Given the description of an element on the screen output the (x, y) to click on. 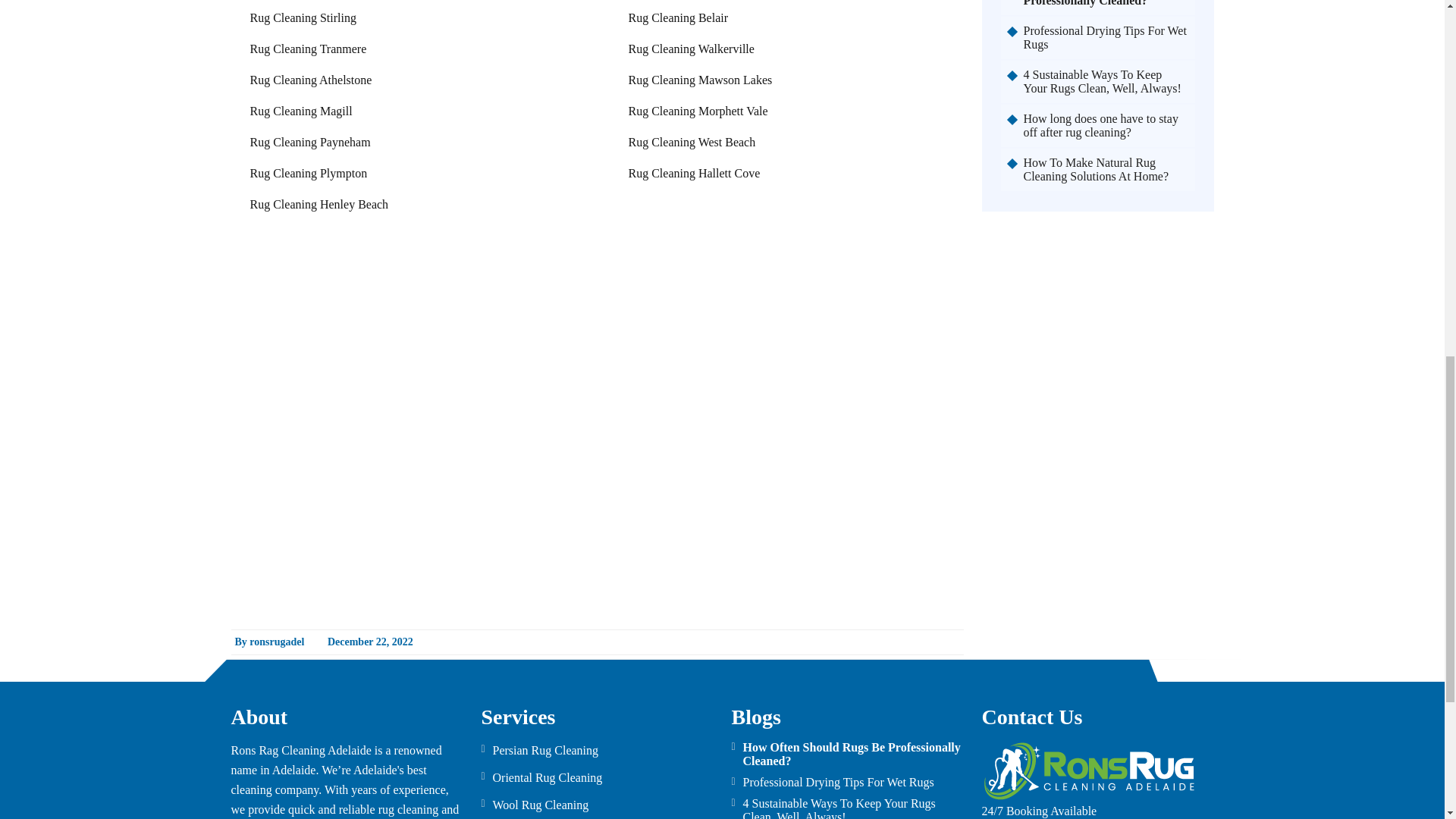
Rug Cleaning Tranmere (308, 48)
Rug Cleaning Payneham (310, 141)
Rug Cleaning Stirling (303, 17)
Rug Cleaning Athelstone (311, 79)
Rug Cleaning Magill (301, 110)
Rug Cleaning Plympton (309, 173)
